Given the description of an element on the screen output the (x, y) to click on. 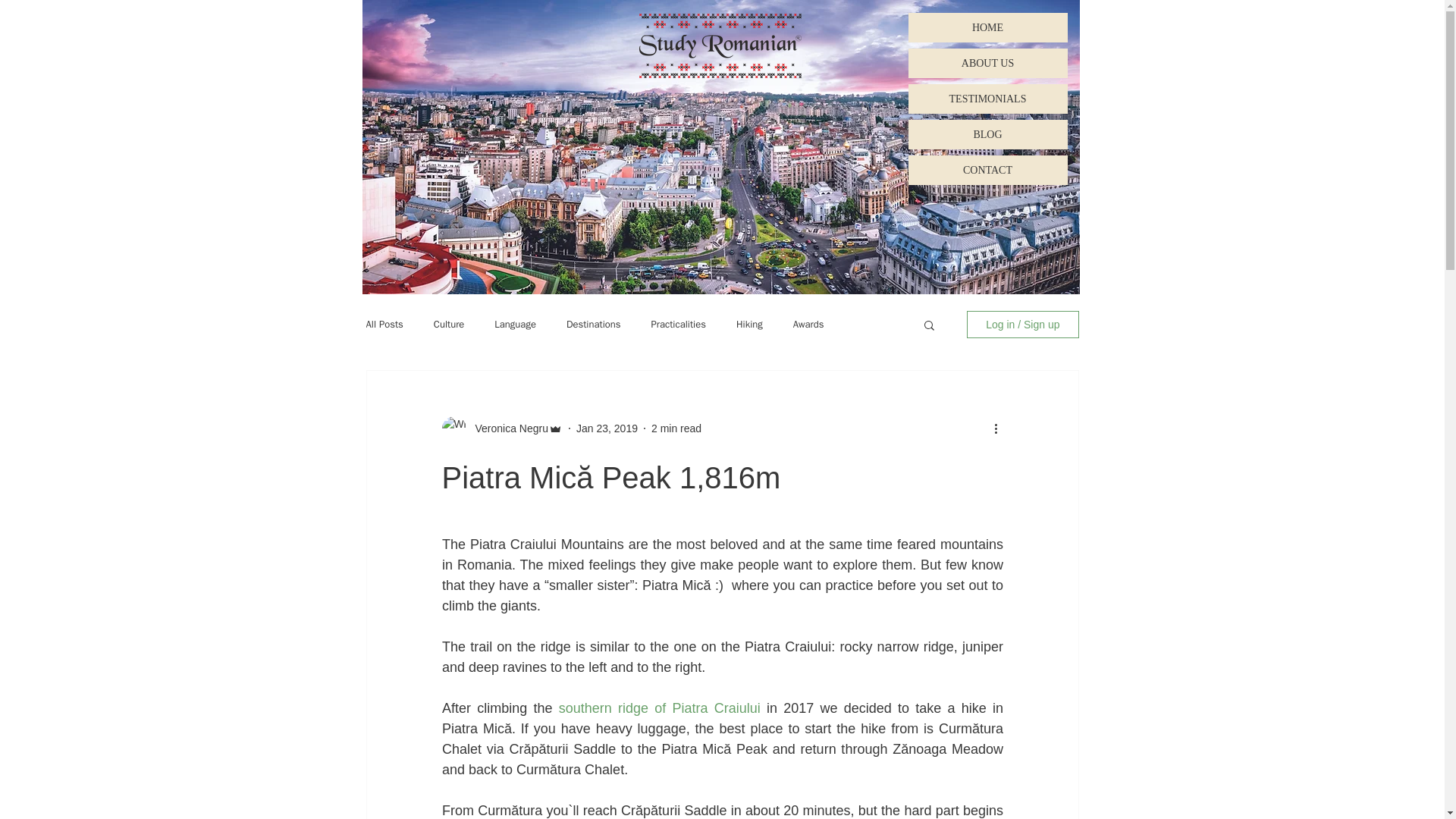
TESTIMONIALS (987, 98)
Culture (448, 324)
Destinations (593, 324)
Jan 23, 2019 (606, 427)
HOME (987, 27)
Veronica Negru (506, 427)
Awards (808, 324)
ABOUT US (987, 62)
Practicalities (678, 324)
2 min read (675, 427)
